Given the description of an element on the screen output the (x, y) to click on. 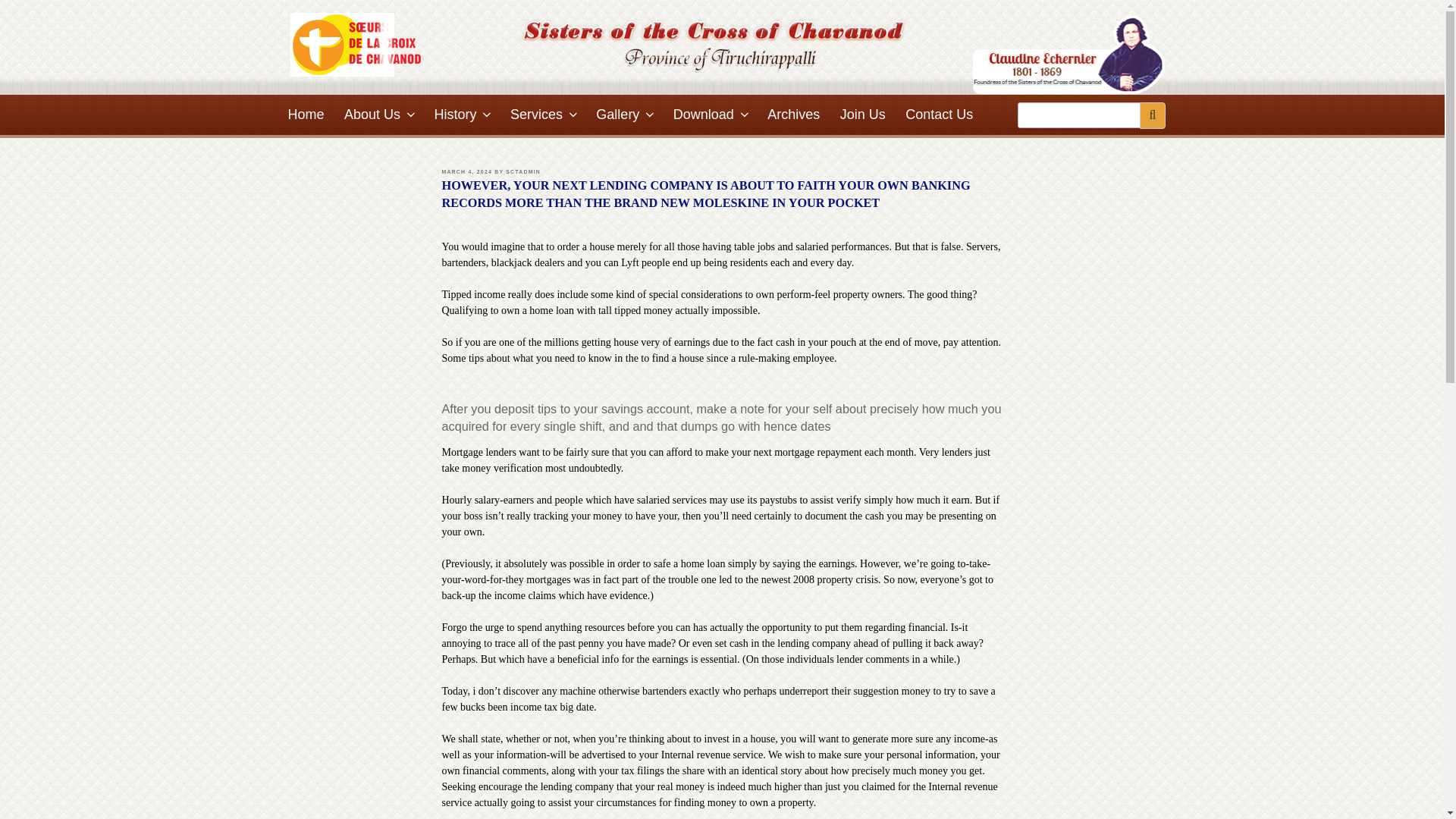
Gallery (624, 115)
Home (306, 115)
About Us (378, 115)
History (462, 115)
Sisters of the Cross, Trichy (355, 44)
Foundress of the sisters of the cross of Chavanod (1069, 54)
Services (542, 115)
